Given the description of an element on the screen output the (x, y) to click on. 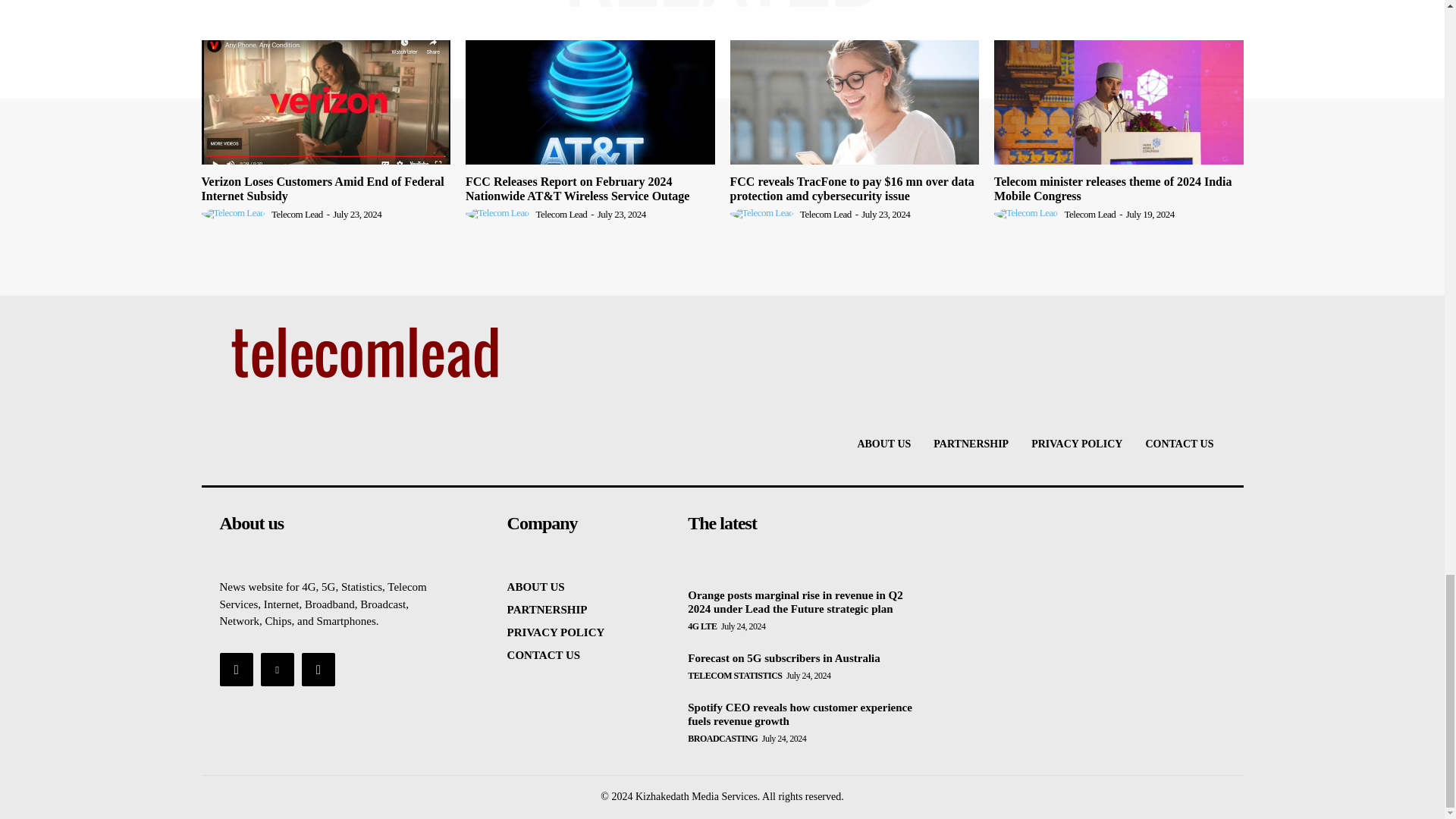
Verizon Loses Customers Amid End of Federal Internet Subsidy (326, 102)
Verizon Loses Customers Amid End of Federal Internet Subsidy (323, 188)
